Given the description of an element on the screen output the (x, y) to click on. 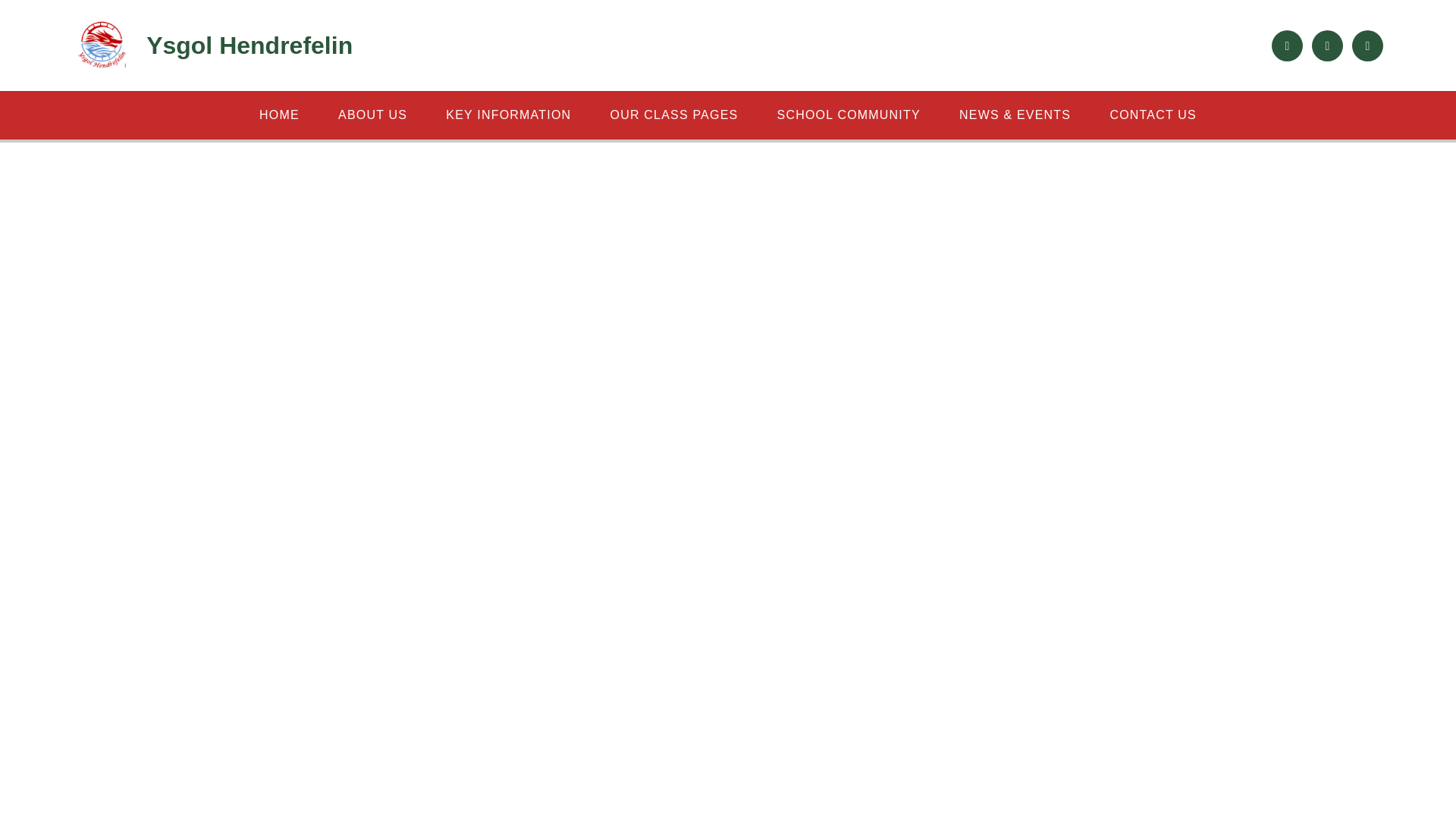
ABOUT US (372, 114)
HOME (279, 114)
Ysgol Hendrefelin (212, 45)
KEY INFORMATION (508, 114)
